Given the description of an element on the screen output the (x, y) to click on. 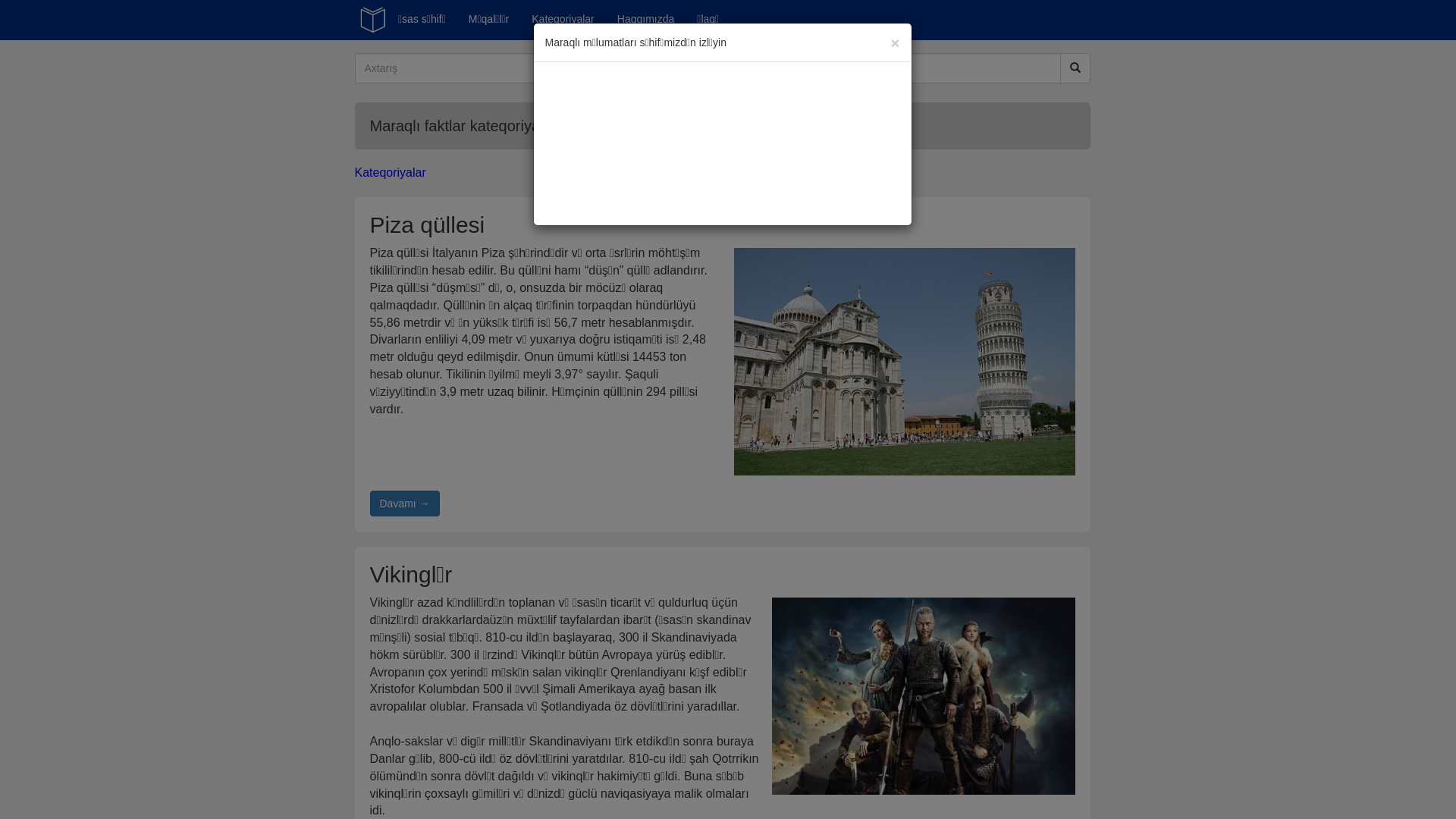
Kateqoriyalar Element type: text (562, 18)
Kateqoriyalar Element type: text (390, 172)
